Given the description of an element on the screen output the (x, y) to click on. 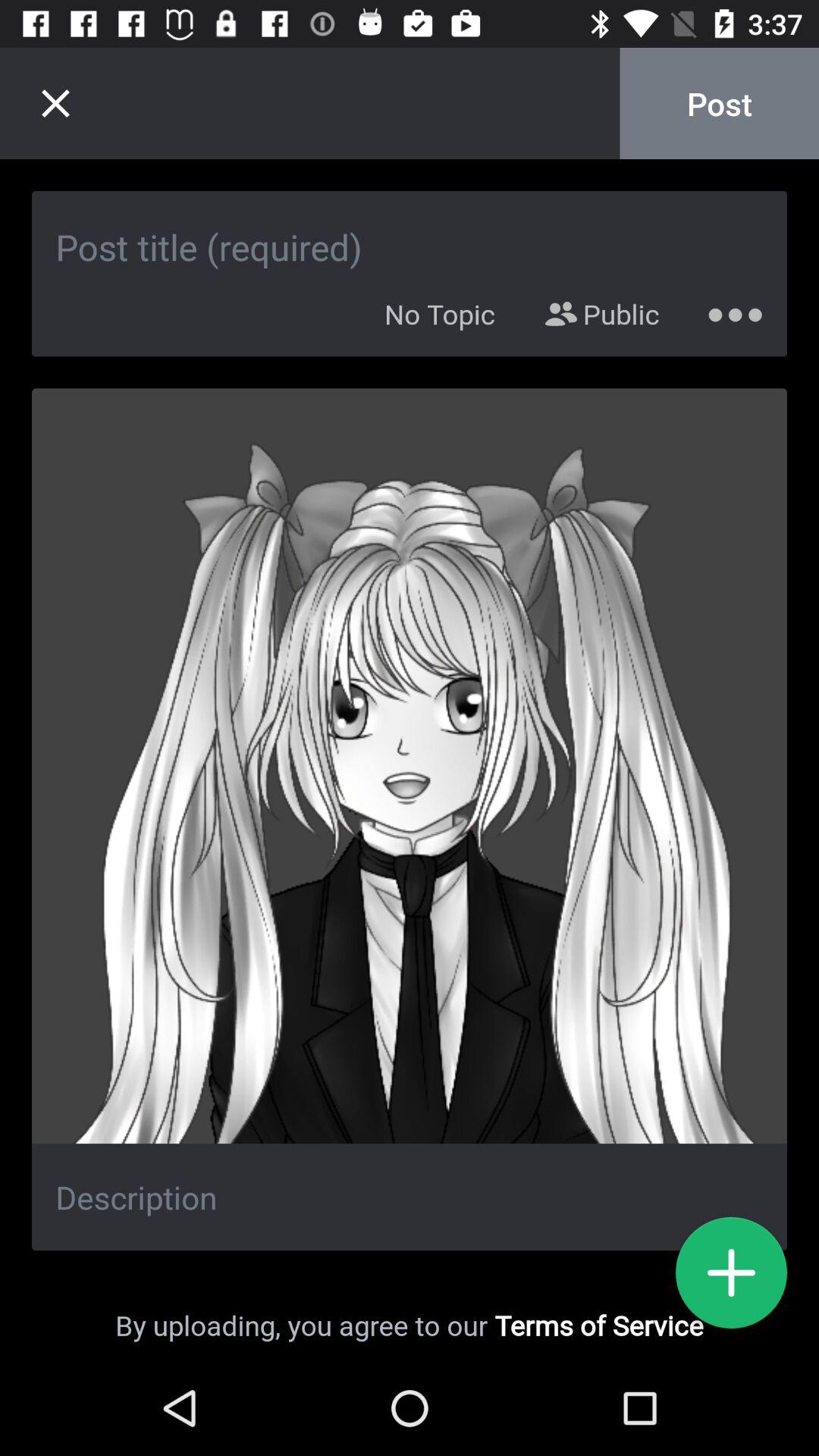
enter image title (409, 231)
